Given the description of an element on the screen output the (x, y) to click on. 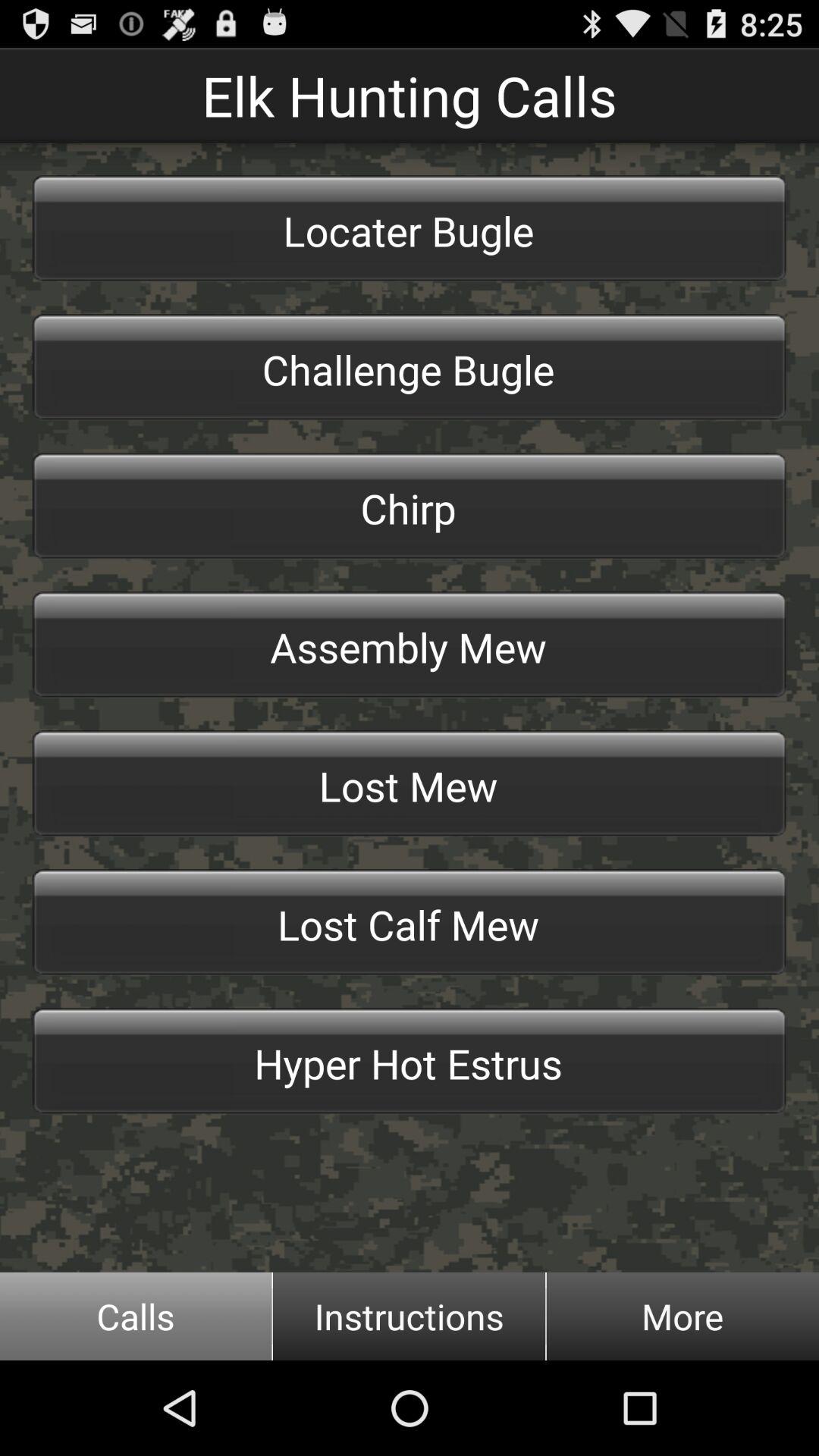
launch the item above the assembly mew (409, 505)
